Given the description of an element on the screen output the (x, y) to click on. 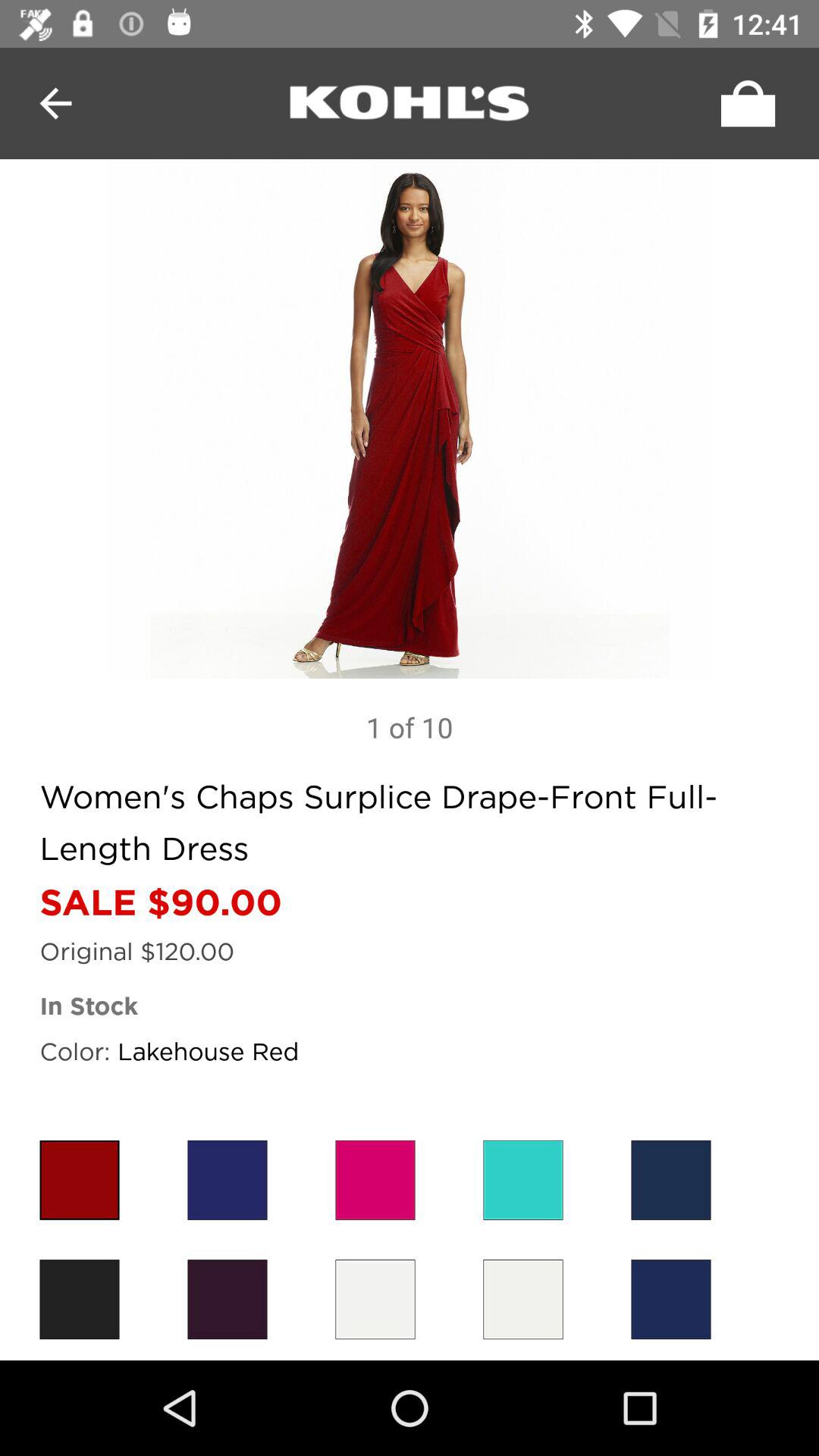
switch on autoplay option (744, 103)
